Given the description of an element on the screen output the (x, y) to click on. 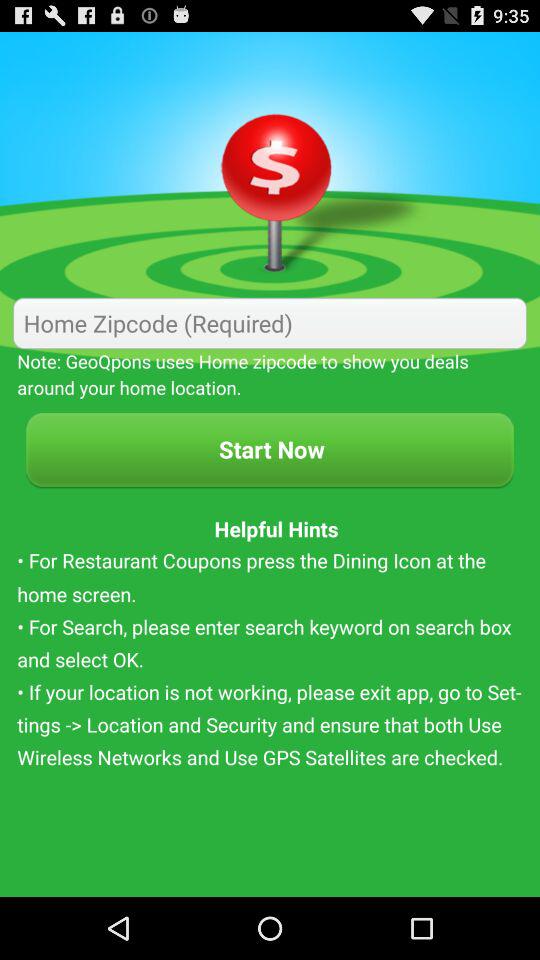
home zipcode (269, 322)
